Given the description of an element on the screen output the (x, y) to click on. 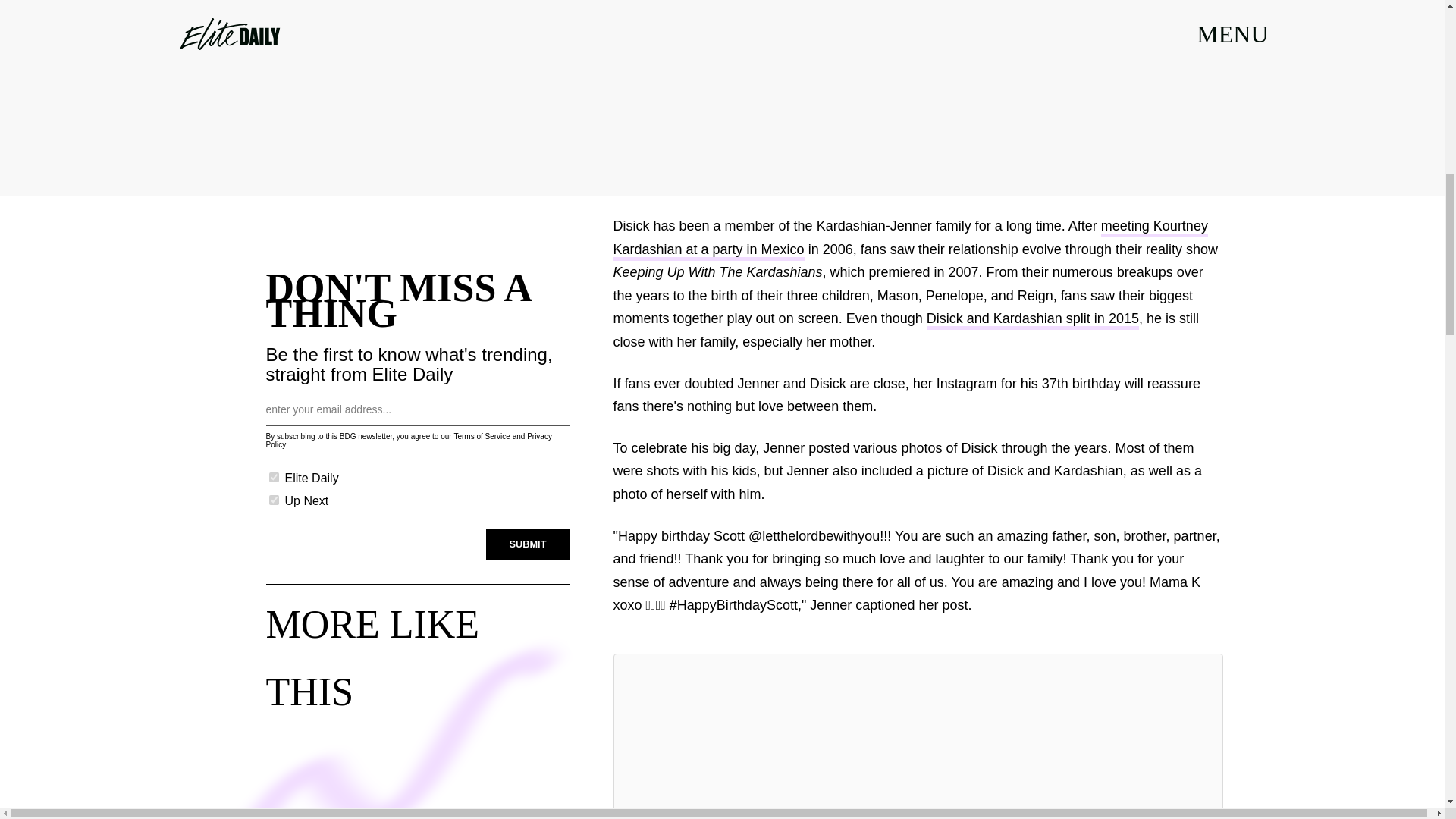
Terms of Service (480, 436)
Privacy Policy (407, 440)
meeting Kourtney Kardashian at a party in Mexico (909, 239)
SUBMIT (527, 544)
Disick and Kardashian split in 2015 (1032, 320)
